Given the description of an element on the screen output the (x, y) to click on. 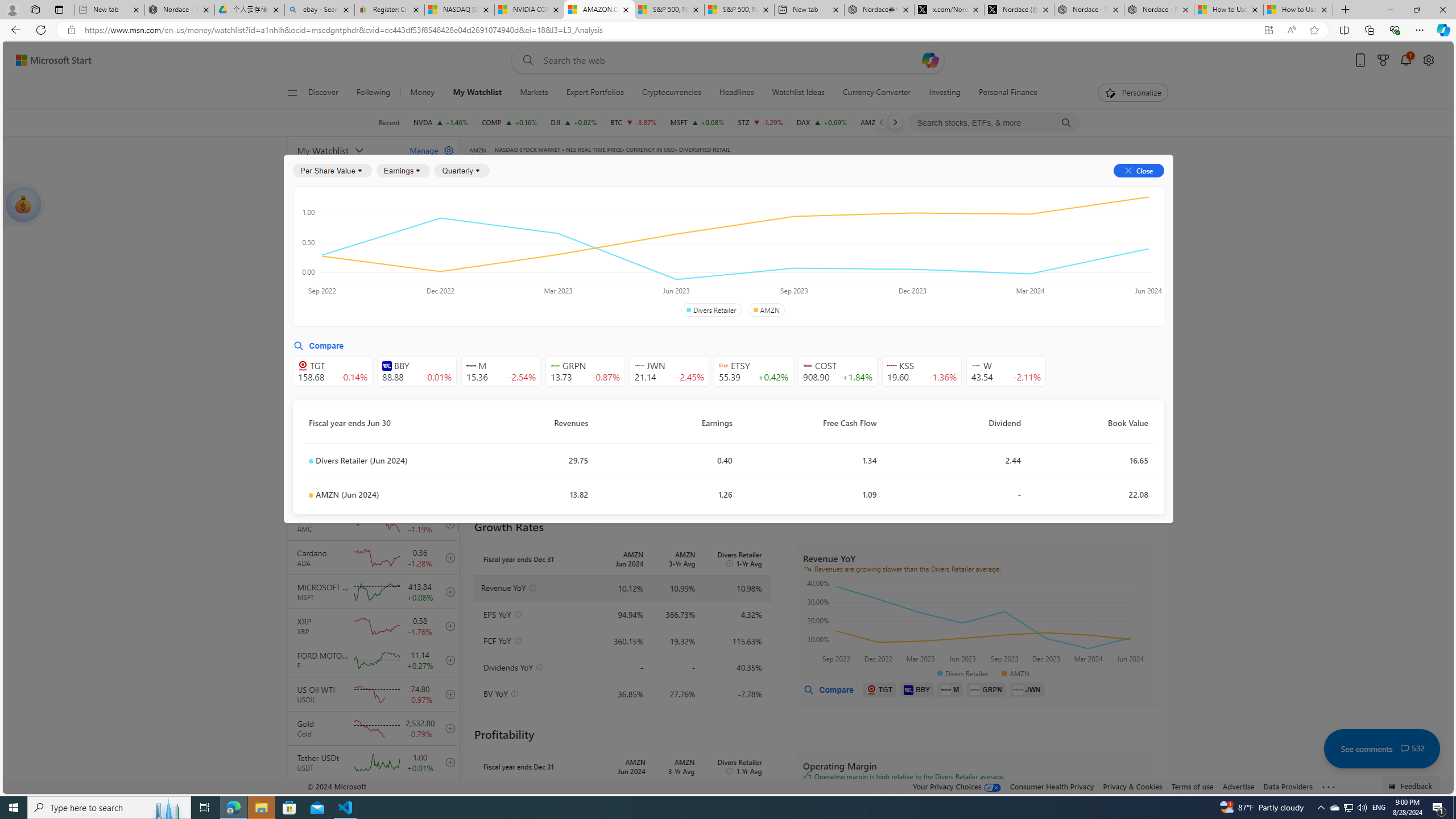
Personalize (1132, 92)
Class: cwt-icon-vector (1404, 748)
Growth Rates (602, 253)
BTC Bitcoin decrease 60,049.35 -2,320.91 -3.87% (632, 122)
My Watchlist (477, 92)
Markets (533, 92)
Next (895, 122)
My Watchlist (346, 150)
Privacy & Cookies (1131, 785)
